Given the description of an element on the screen output the (x, y) to click on. 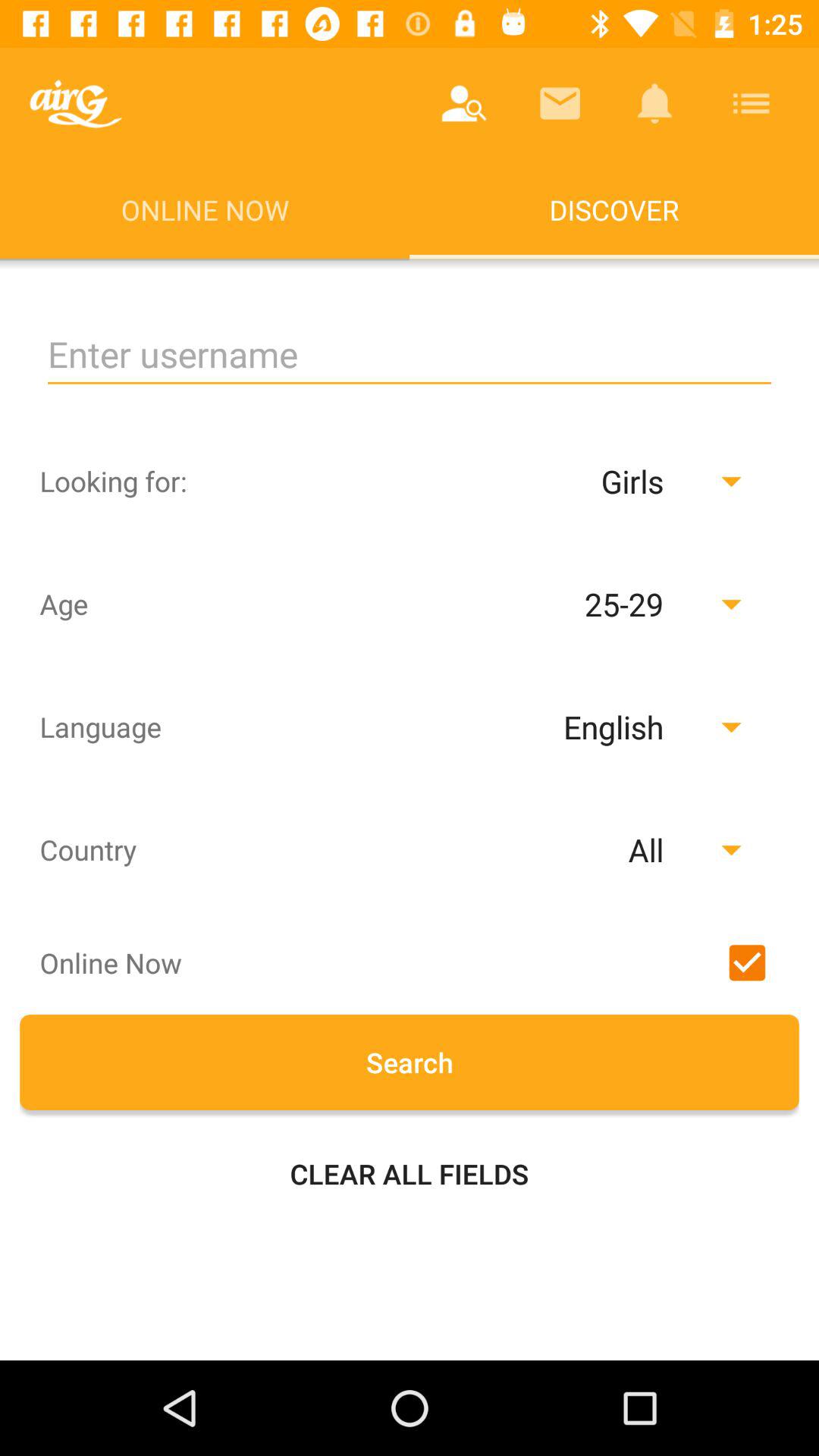
use online (747, 962)
